Given the description of an element on the screen output the (x, y) to click on. 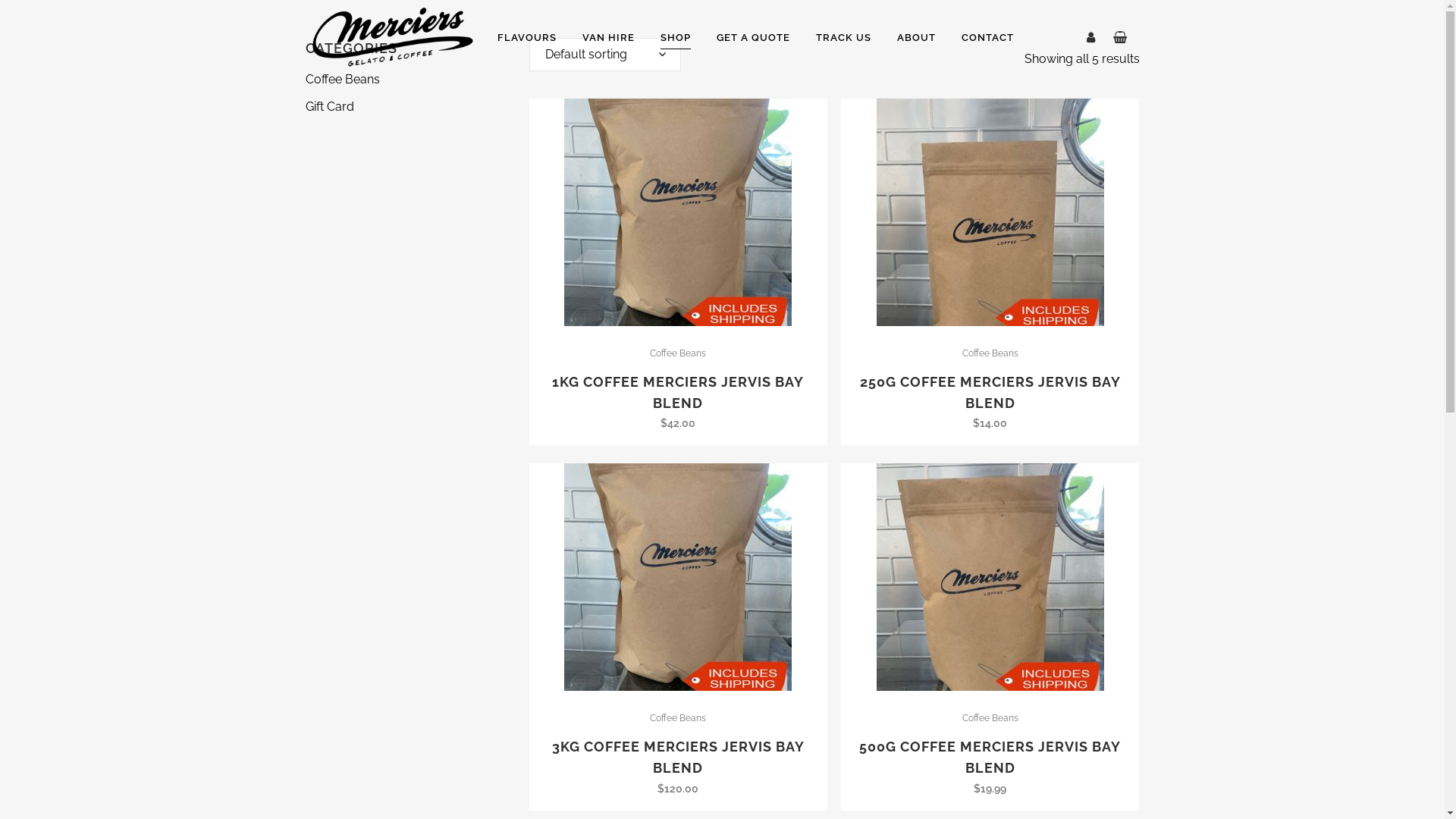
FLAVOURS Element type: text (526, 37)
TRACK US Element type: text (843, 37)
SHOP Element type: text (675, 37)
GET A QUOTE Element type: text (753, 37)
Coffee Beans Element type: text (341, 79)
VAN HIRE Element type: text (608, 37)
1KG COFFEE MERCIERS JERVIS BAY BLEND
$42.00 Element type: text (678, 396)
ABOUT Element type: text (916, 37)
Gift Card Element type: text (328, 106)
Coffee Beans Element type: text (677, 717)
500G COFFEE MERCIERS JERVIS BAY BLEND
$19.99 Element type: text (989, 760)
3KG COFFEE MERCIERS JERVIS BAY BLEND
$120.00 Element type: text (678, 760)
250G COFFEE MERCIERS JERVIS BAY BLEND
$14.00 Element type: text (989, 396)
CONTACT Element type: text (987, 37)
Coffee Beans Element type: text (990, 717)
Coffee Beans Element type: text (990, 353)
Coffee Beans Element type: text (677, 353)
